Given the description of an element on the screen output the (x, y) to click on. 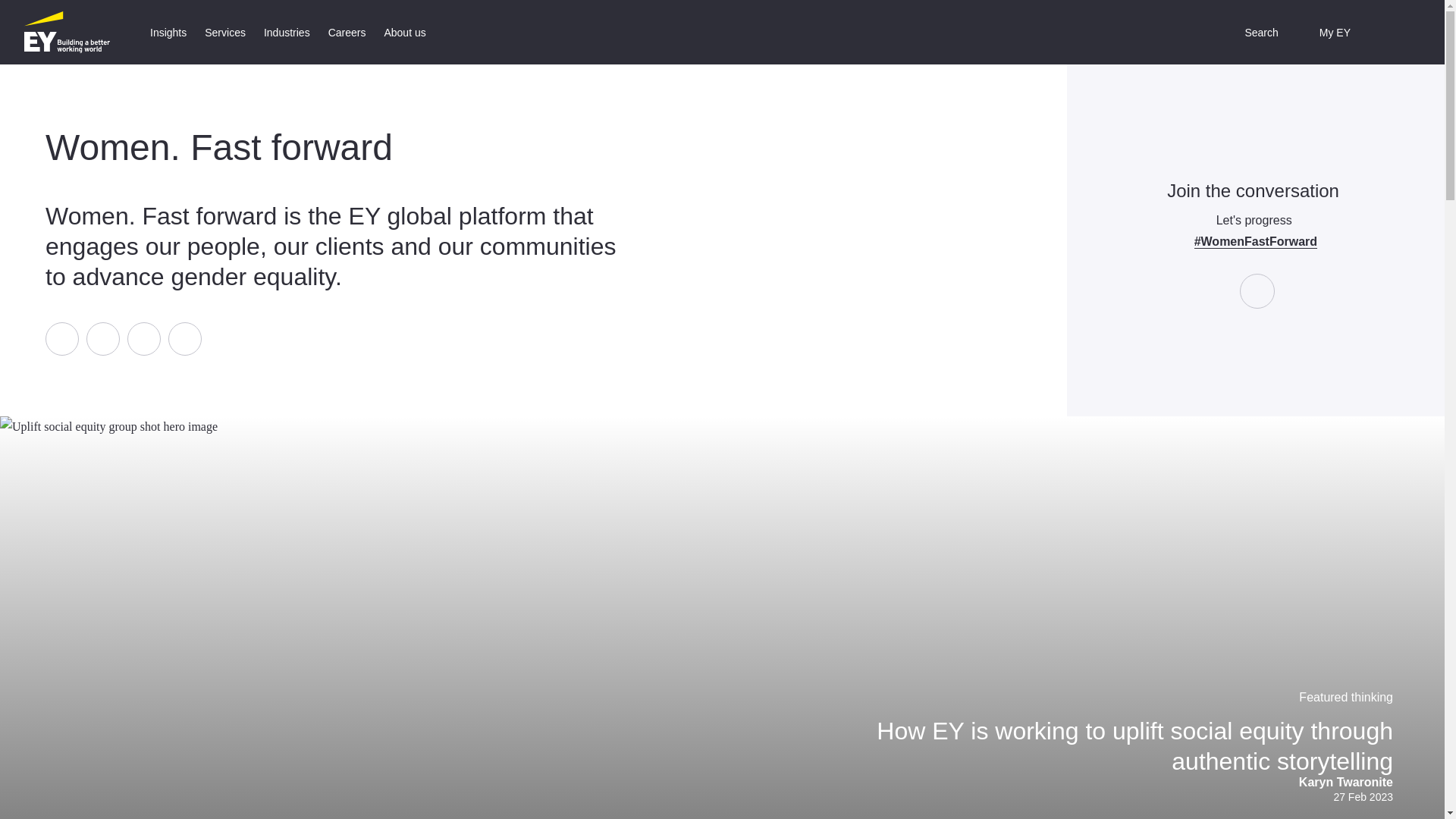
Facebook (61, 338)
Copy link (185, 338)
Open country language switcher (1390, 32)
My EY (1324, 32)
Insights (168, 32)
EY Homepage (67, 32)
Services (224, 32)
Open search (1250, 32)
Social Media Share (123, 338)
Linkedin (102, 338)
